Given the description of an element on the screen output the (x, y) to click on. 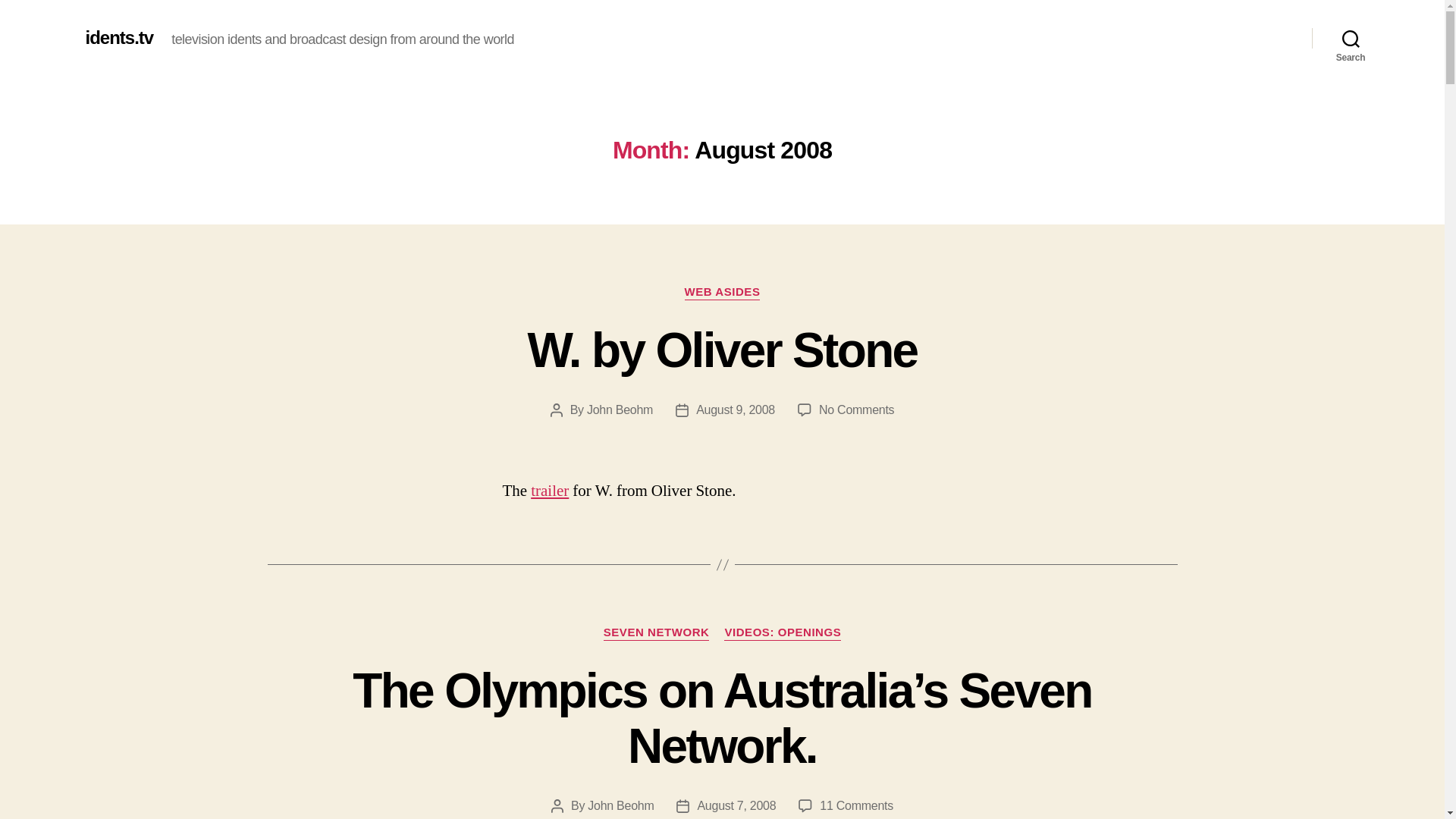
John Beohm (855, 409)
WEB ASIDES (620, 805)
Search (722, 292)
SEVEN NETWORK (1350, 37)
August 7, 2008 (657, 632)
August 9, 2008 (736, 805)
VIDEOS: OPENINGS (734, 409)
John Beohm (782, 632)
idents.tv (619, 409)
W. by Oliver Stone (118, 37)
trailer (722, 349)
